Given the description of an element on the screen output the (x, y) to click on. 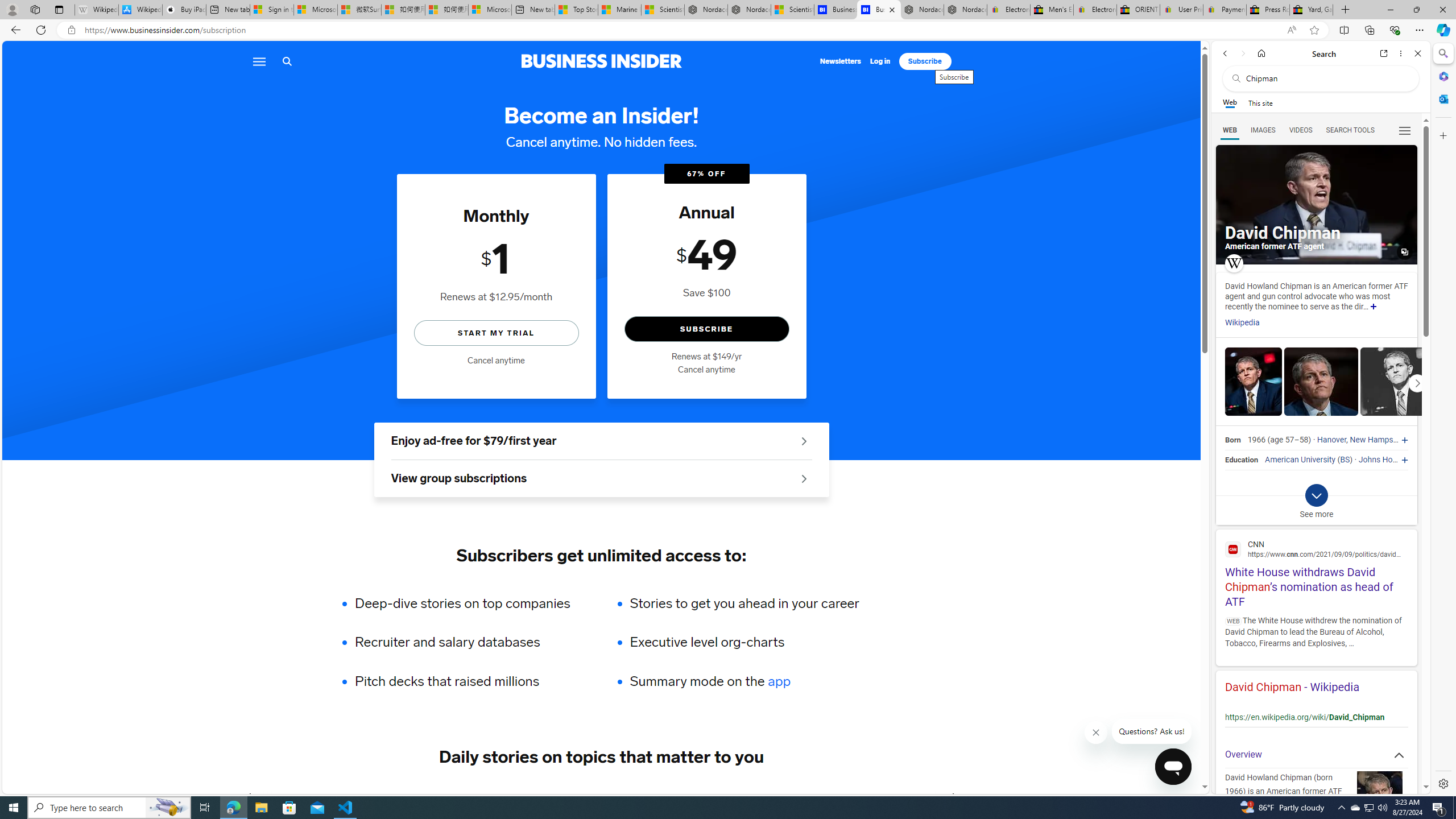
TECH (280, 796)
Menu icon (257, 61)
View details (1396, 381)
Recruiter and salary databases (470, 642)
HEALTHCARE (680, 796)
Questions? Ask us! (1152, 731)
Summary mode on the app (743, 681)
PERSONAL FINANCE (577, 796)
